Given the description of an element on the screen output the (x, y) to click on. 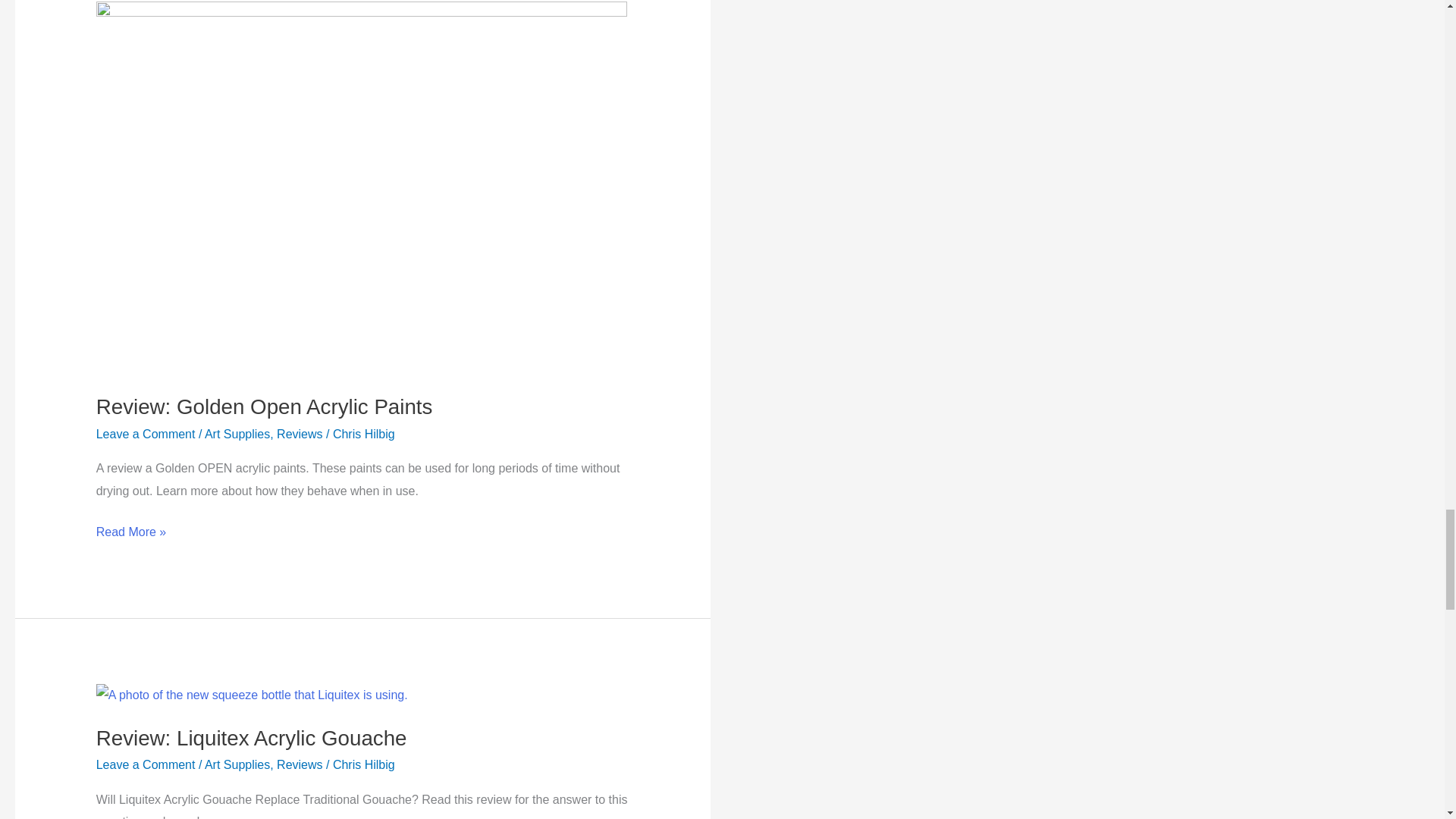
View all posts by Chris Hilbig (363, 764)
View all posts by Chris Hilbig (363, 433)
